Given the description of an element on the screen output the (x, y) to click on. 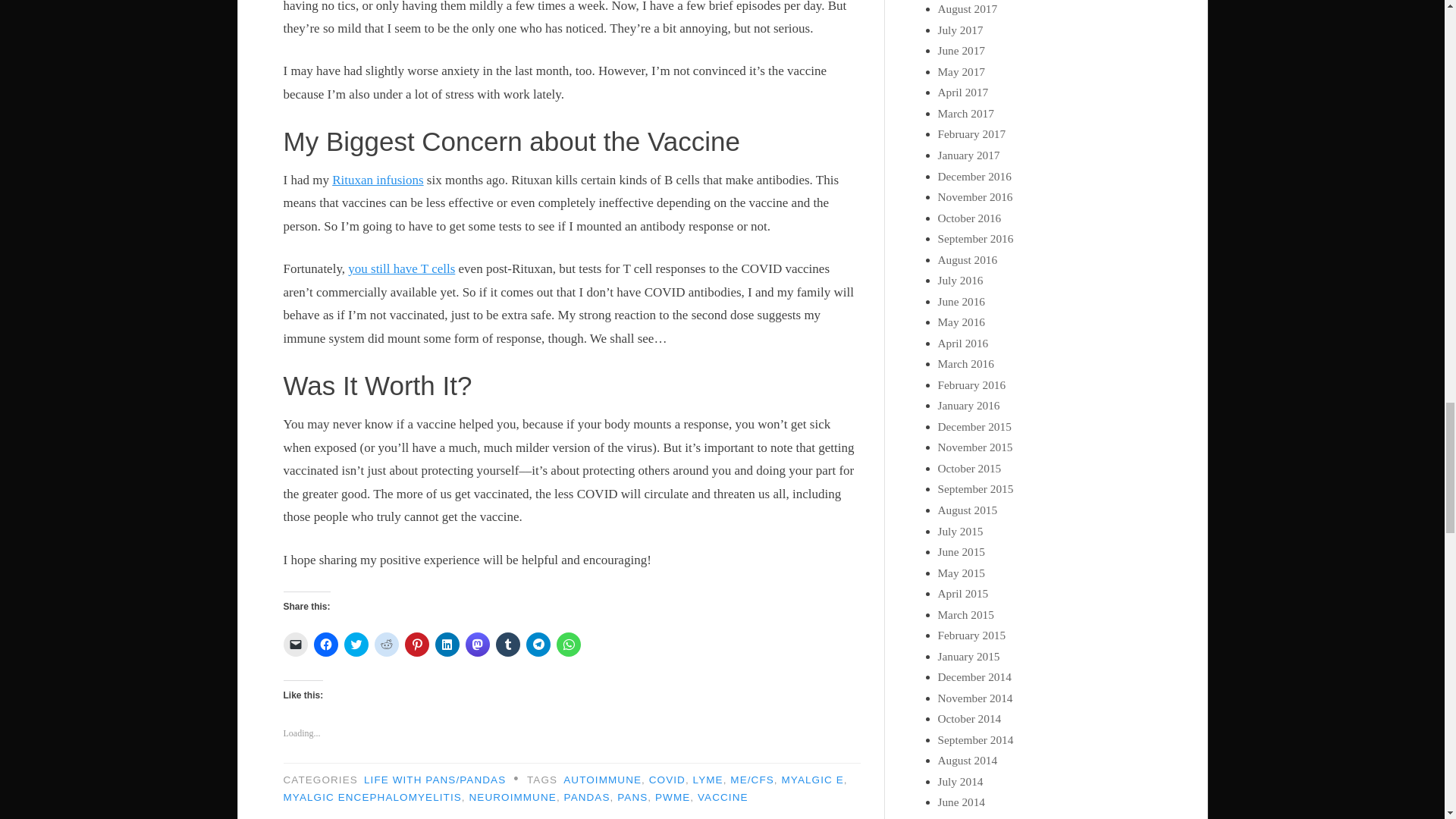
Click to share on Twitter (355, 644)
Click to share on Mastodon (477, 644)
Rituxan infusions (377, 179)
Click to share on Facebook (325, 644)
Click to email a link to a friend (295, 644)
Click to share on WhatsApp (568, 644)
you still have T cells (400, 268)
Click to share on Telegram (537, 644)
Click to share on LinkedIn (447, 644)
Click to share on Pinterest (416, 644)
Click to share on Tumblr (507, 644)
Click to share on Reddit (386, 644)
